Given the description of an element on the screen output the (x, y) to click on. 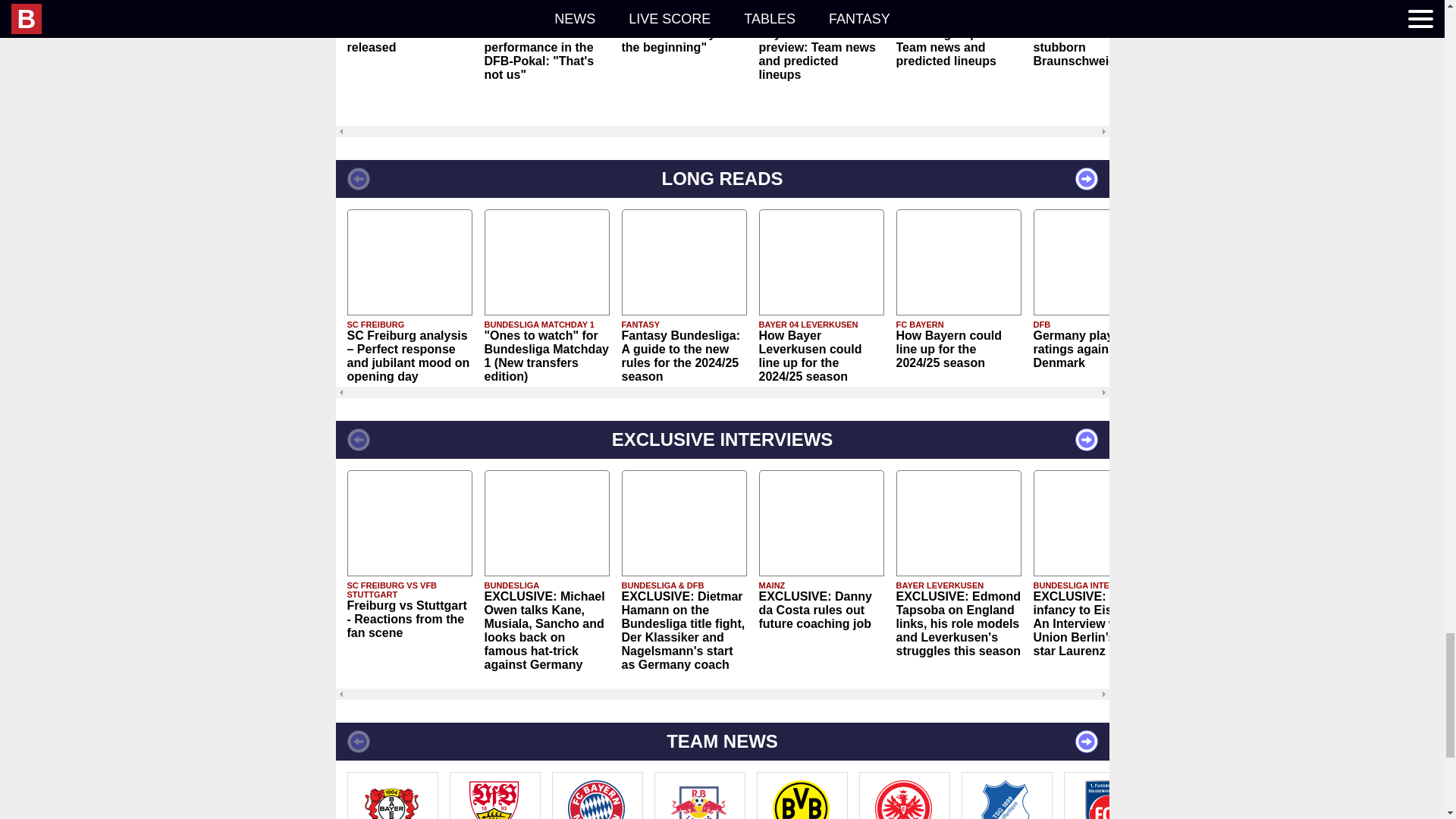
EXCLUSIVE INTERVIEWS (721, 439)
TEAM NEWS (721, 741)
LONG READS (721, 178)
